Given the description of an element on the screen output the (x, y) to click on. 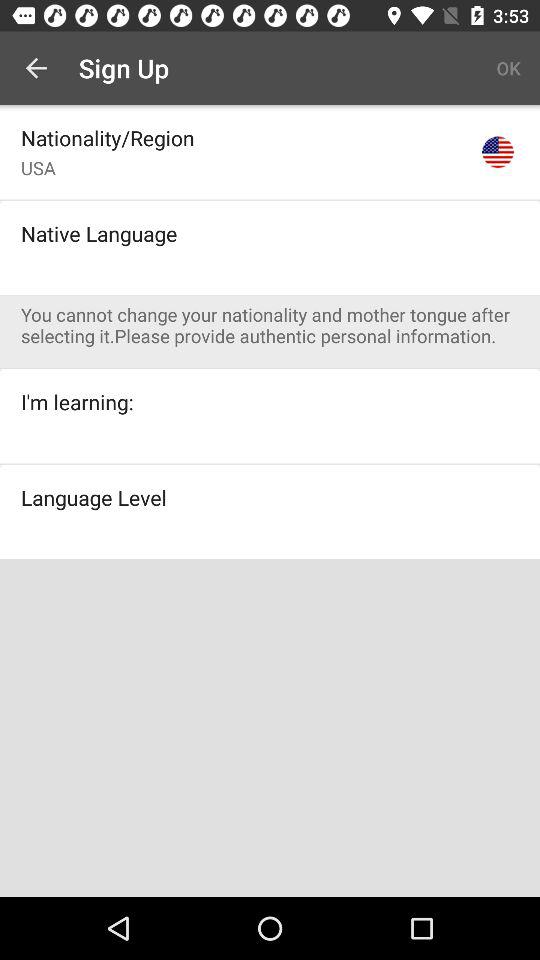
scroll until usa icon (38, 167)
